Given the description of an element on the screen output the (x, y) to click on. 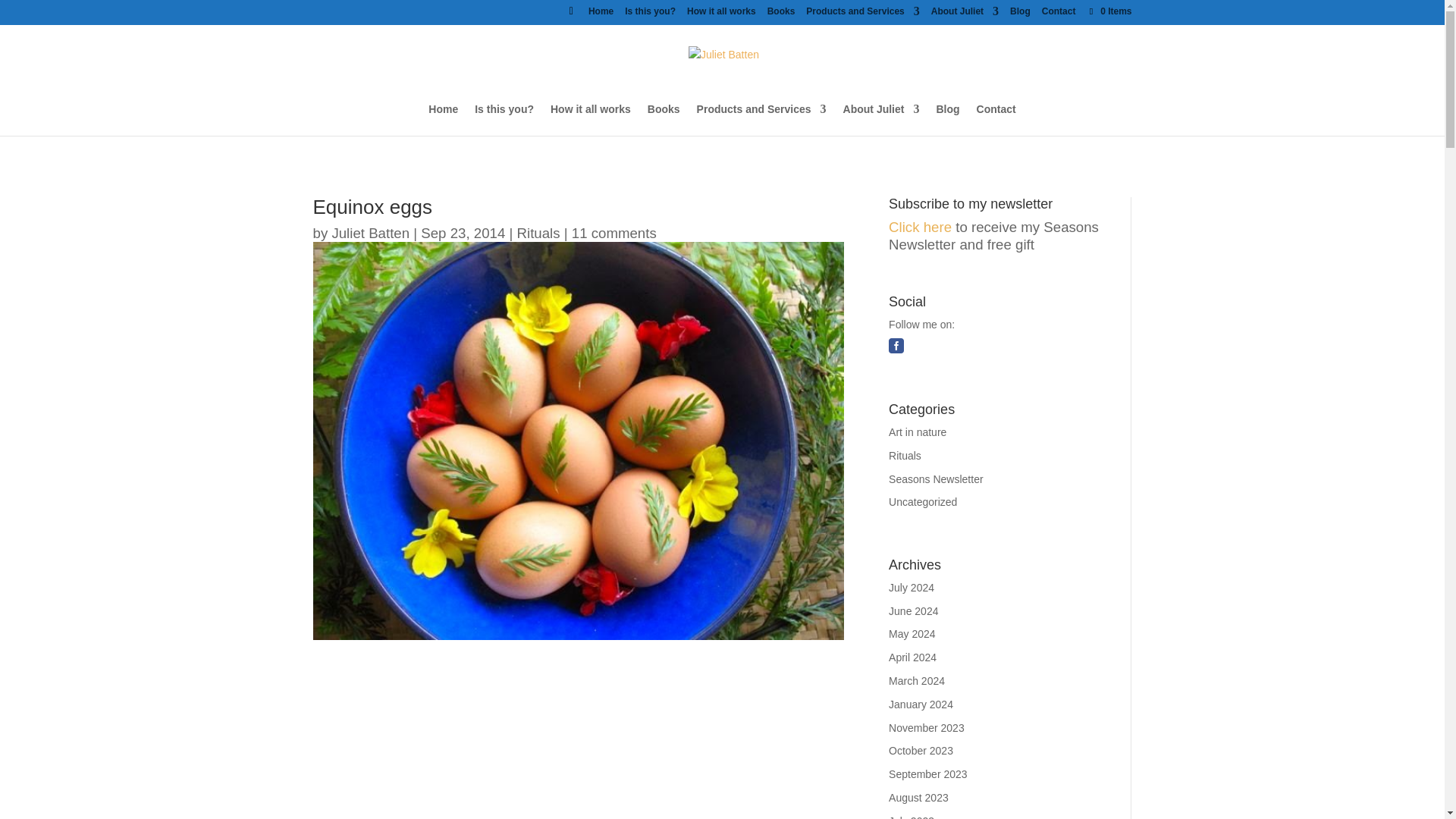
How it all works (721, 14)
Juliet Batten (370, 232)
How it all works (590, 119)
11 comments (614, 232)
About Juliet (964, 14)
Contact (1058, 14)
Products and Services (762, 119)
Is this you? (649, 14)
About Juliet (881, 119)
Is this you? (504, 119)
Rituals (538, 232)
Products and Services (862, 14)
Books (780, 14)
0 Items (1108, 10)
